Given the description of an element on the screen output the (x, y) to click on. 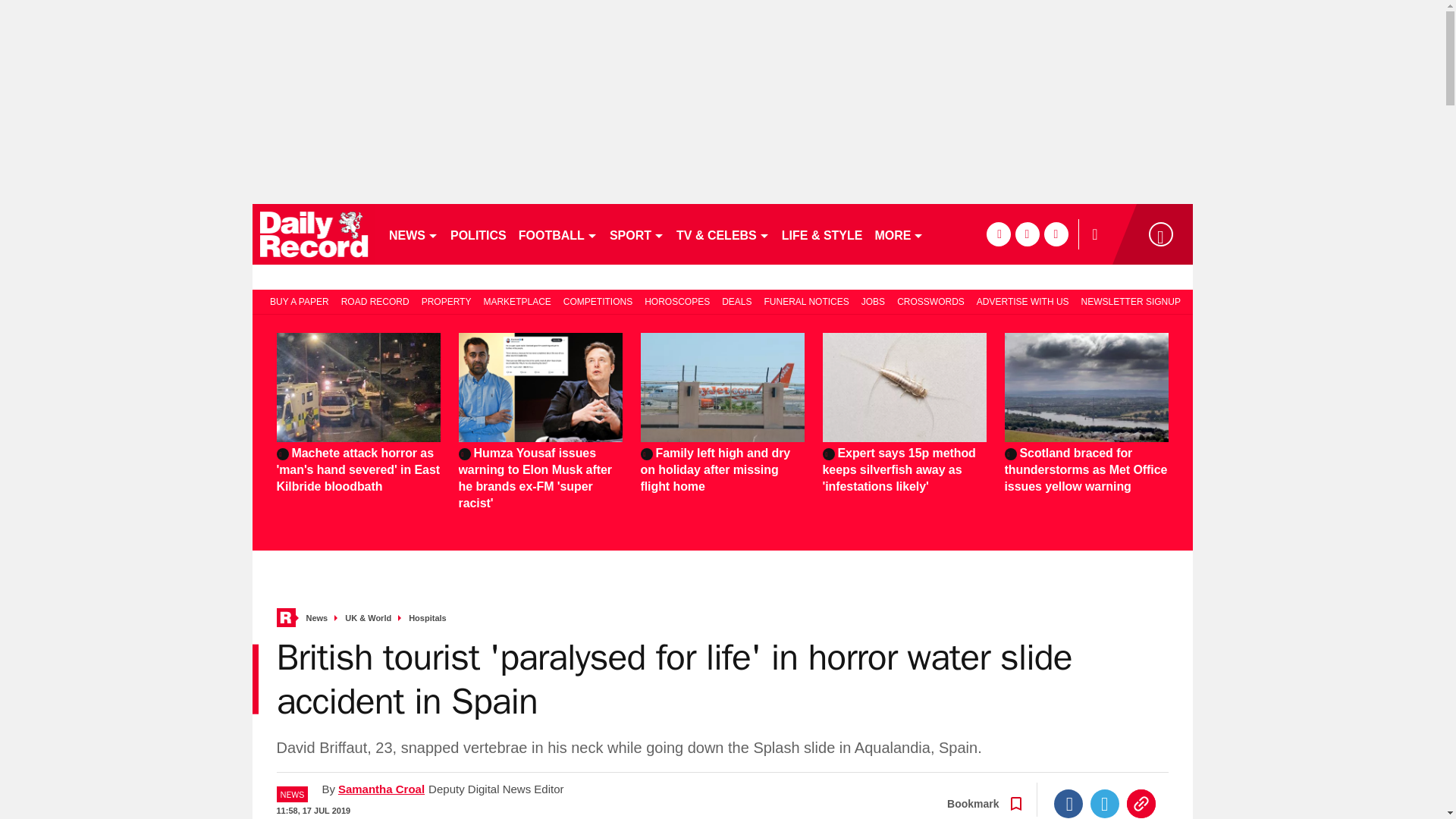
Twitter (1104, 803)
instagram (1055, 233)
facebook (997, 233)
NEWS (413, 233)
POLITICS (478, 233)
twitter (1026, 233)
Facebook (1068, 803)
FOOTBALL (558, 233)
SPORT (636, 233)
dailyrecord (313, 233)
